Given the description of an element on the screen output the (x, y) to click on. 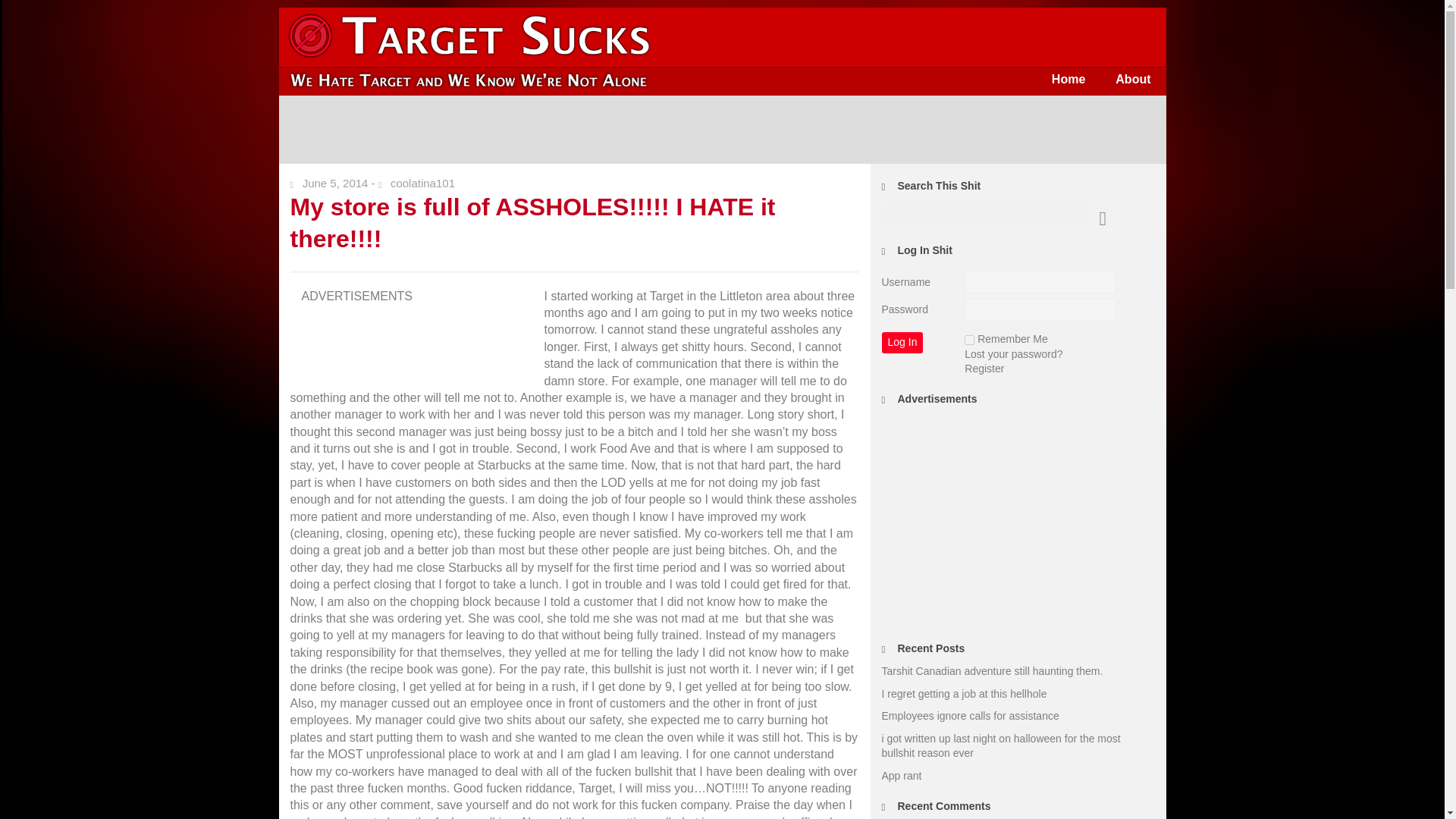
Advertisement (1017, 520)
Lost your password? (1012, 354)
I regret getting a job at this hellhole (963, 693)
Advertisement (422, 342)
Employees ignore calls for assistance (969, 715)
Log In (901, 342)
About (1132, 79)
forever (968, 339)
Password Lost and Found (1012, 354)
Search (22, 10)
Home (1068, 79)
Tarshit Canadian adventure still haunting them. (991, 671)
Search for: (986, 215)
App rant (900, 775)
